Given the description of an element on the screen output the (x, y) to click on. 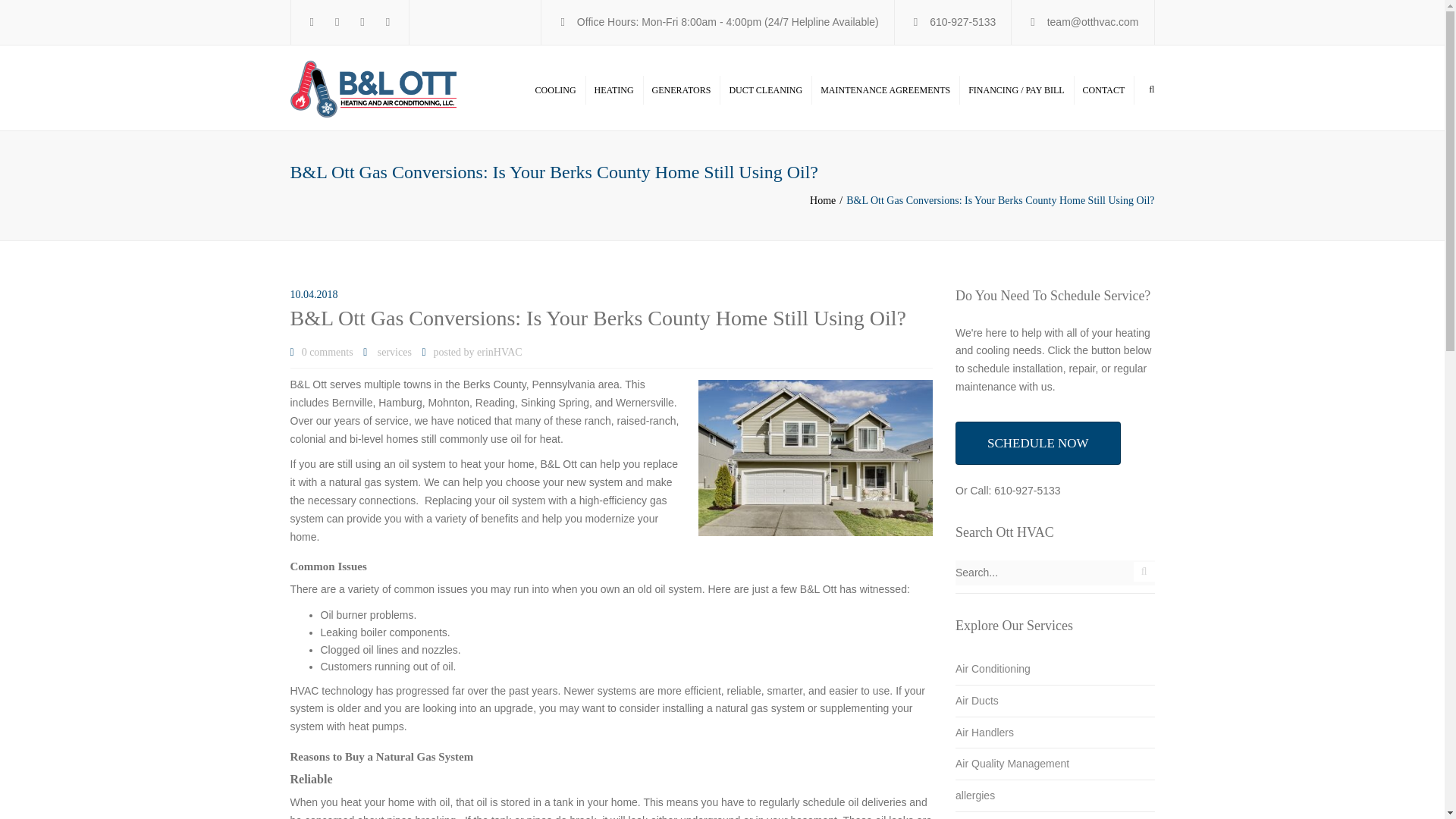
erinHVAC (499, 352)
610-927-5133 (962, 16)
0 comments (327, 352)
GENERATORS (681, 89)
DUCT CLEANING (764, 89)
services (394, 352)
SCHEDULE NOW (1038, 443)
MAINTENANCE AGREEMENTS (885, 89)
Home (827, 200)
